Given the description of an element on the screen output the (x, y) to click on. 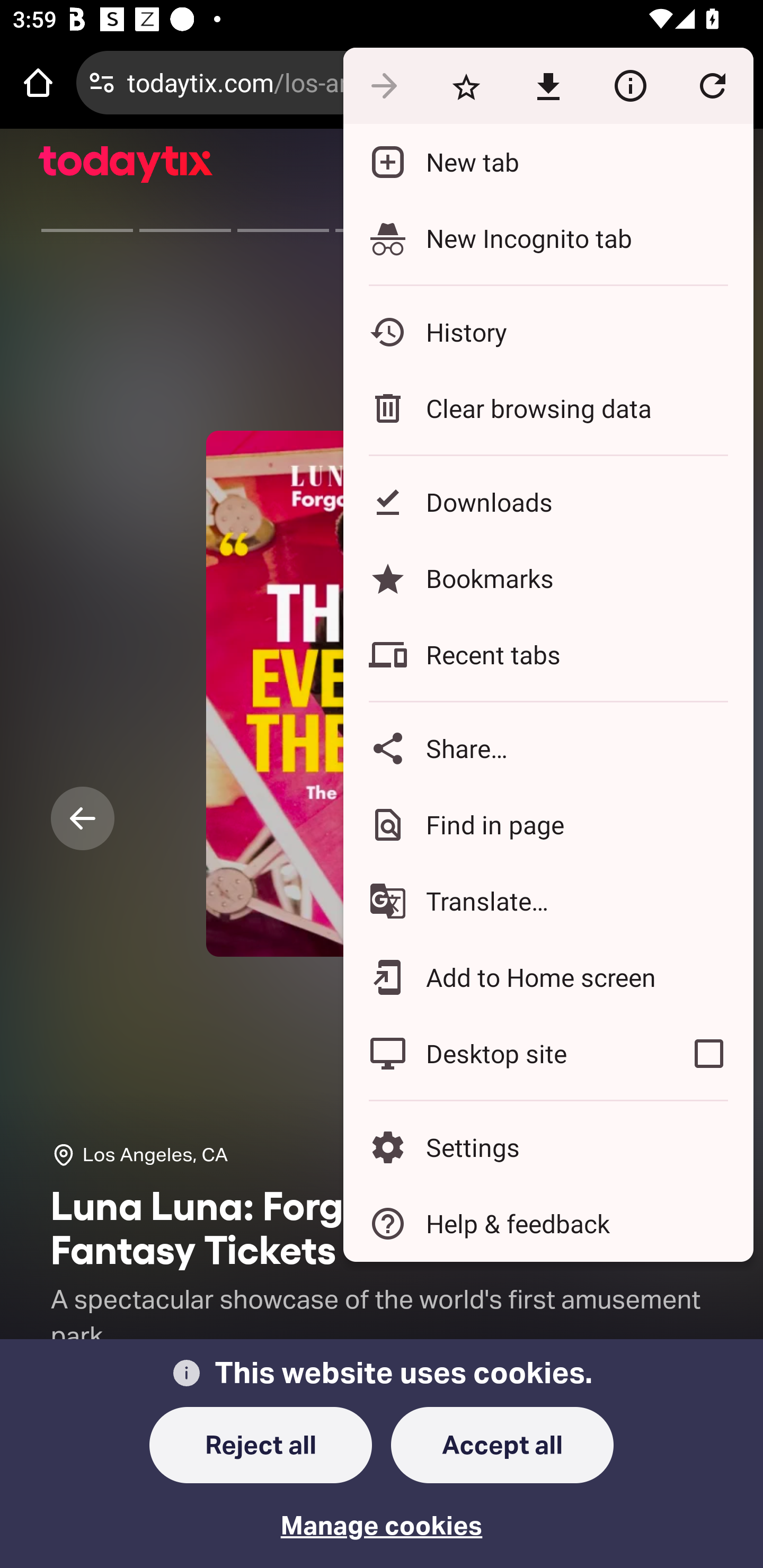
Forward (383, 85)
Bookmark (465, 85)
Download (548, 85)
Page info (630, 85)
Refresh (712, 85)
New tab (548, 161)
New Incognito tab (548, 237)
History (548, 332)
Clear browsing data (548, 408)
Downloads (548, 502)
Bookmarks (548, 578)
Recent tabs (548, 654)
Share… (548, 748)
Find in page (548, 824)
Translate… (548, 900)
Add to Home screen (548, 977)
Desktop site Turn on Request desktop site (503, 1053)
Settings (548, 1146)
Help & feedback (548, 1223)
